Given the description of an element on the screen output the (x, y) to click on. 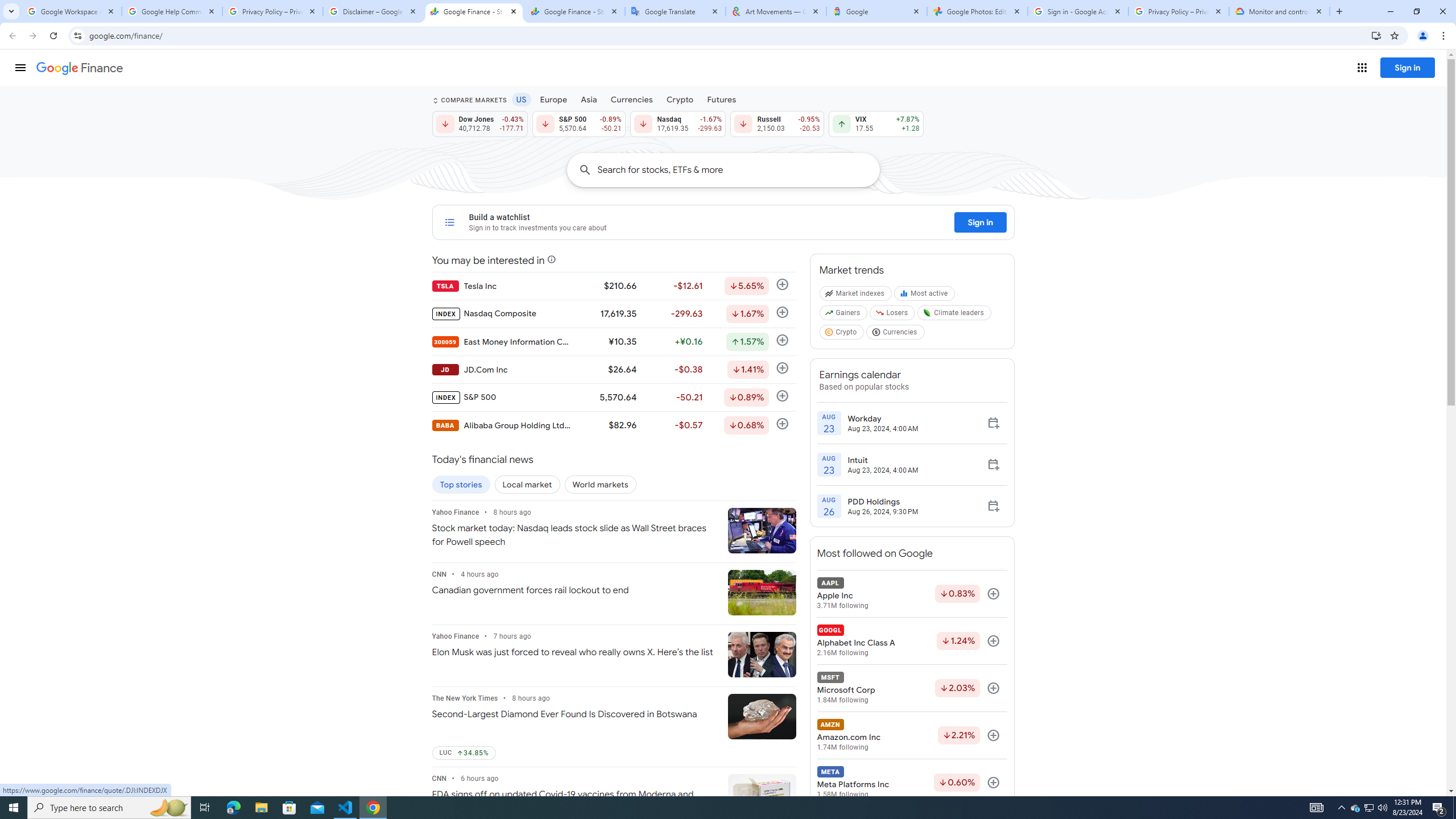
S&P 500 5,570.64 Down by 0.89% -50.21 (578, 123)
GLeaf logo Climate leaders (954, 315)
Main menu (20, 67)
Futures (721, 99)
